Given the description of an element on the screen output the (x, y) to click on. 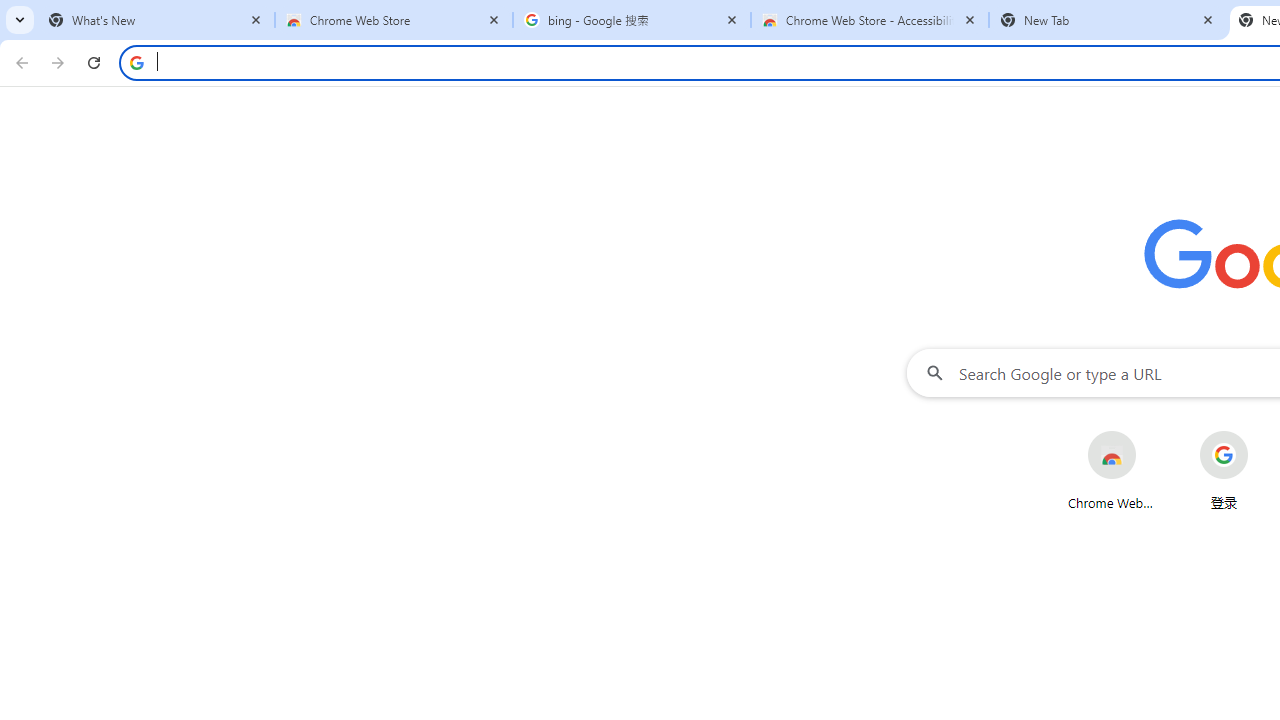
Search tabs (20, 20)
Reload (93, 62)
